Given the description of an element on the screen output the (x, y) to click on. 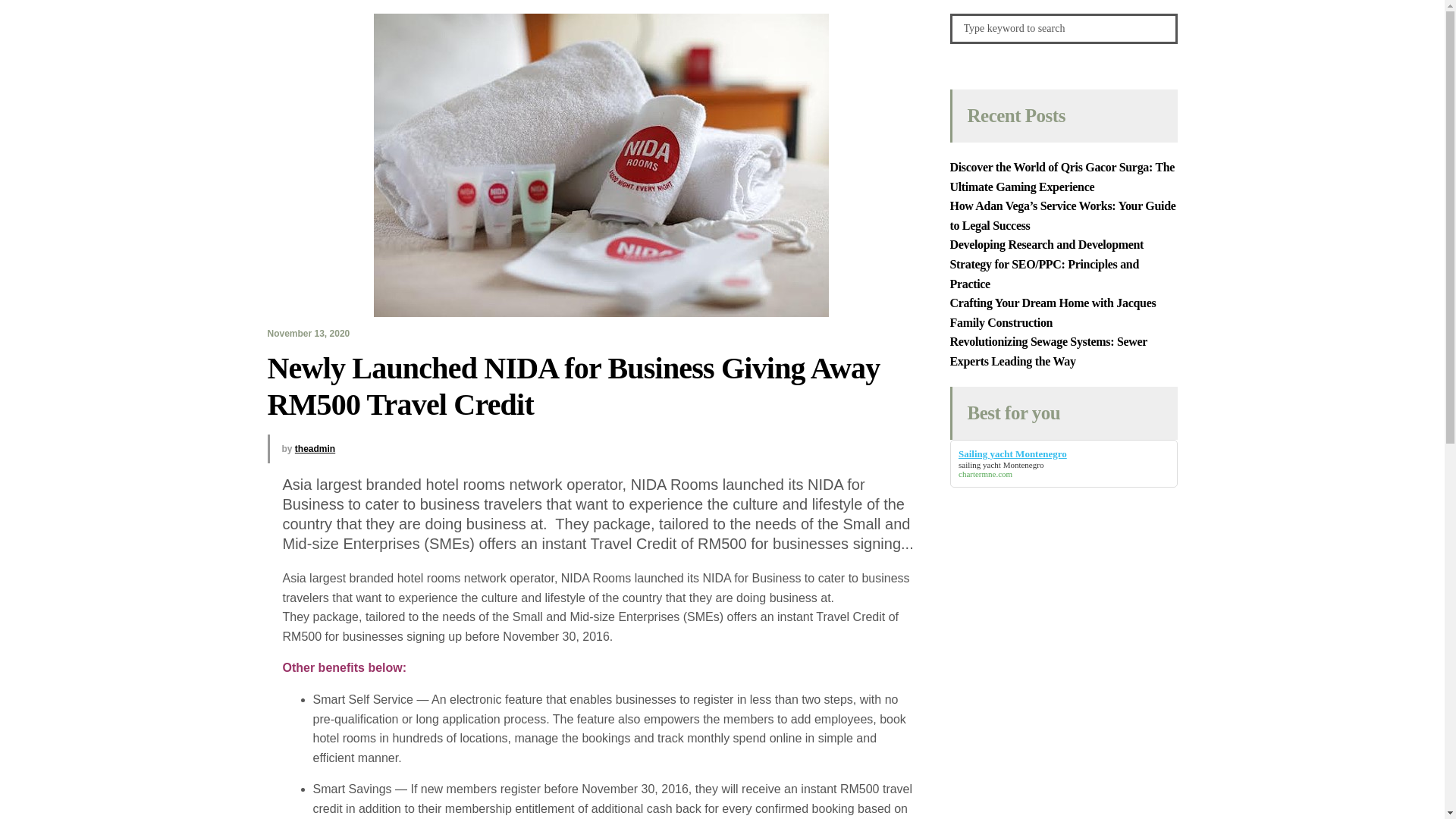
Type keyword to search (1062, 28)
Type keyword to search (1062, 28)
